Given the description of an element on the screen output the (x, y) to click on. 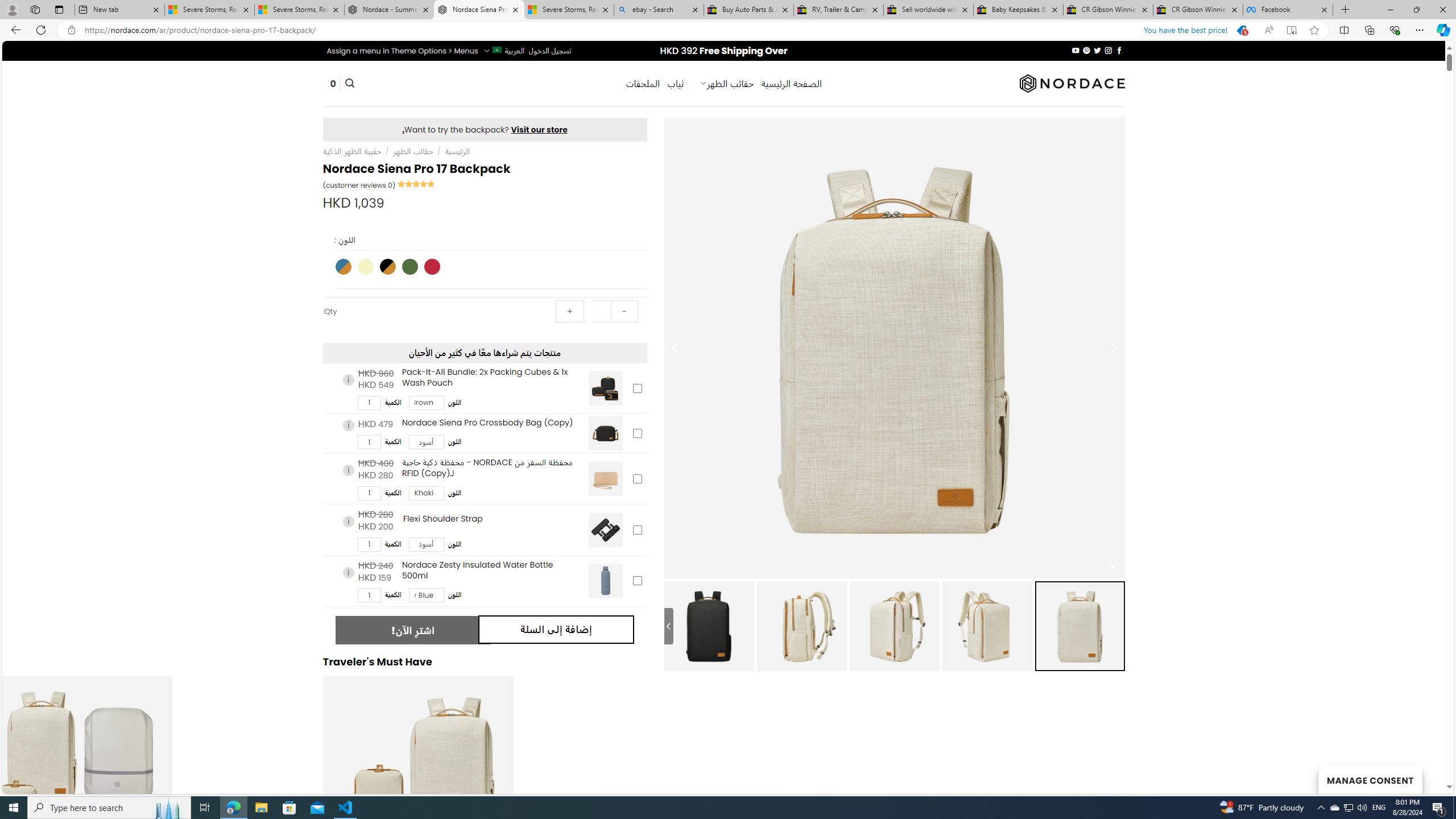
MANAGE CONSENT (1369, 779)
  0 (333, 83)
Follow on Facebook (1118, 50)
